Given the description of an element on the screen output the (x, y) to click on. 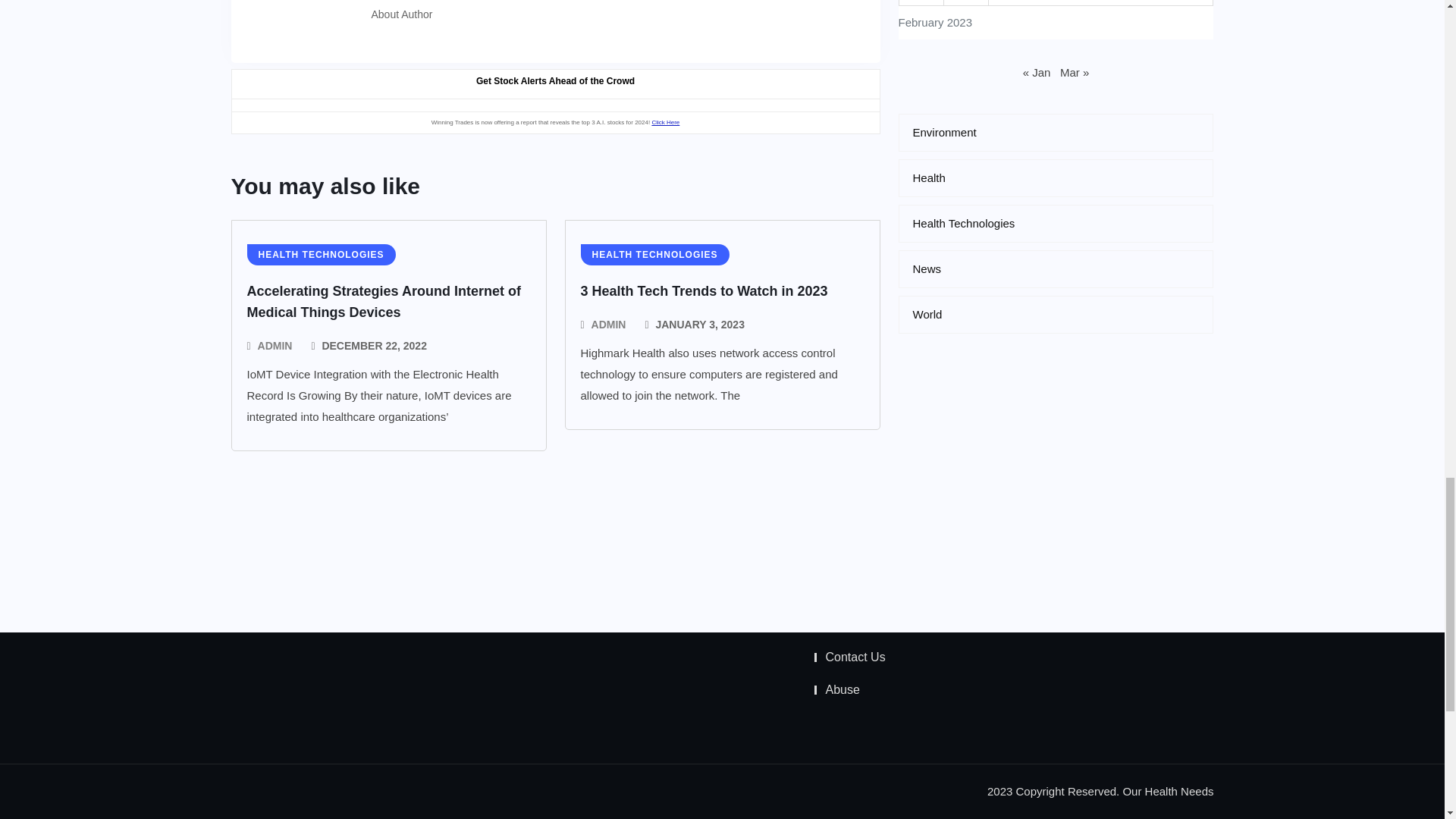
Posts by admin (608, 323)
Posts by admin (274, 345)
